Given the description of an element on the screen output the (x, y) to click on. 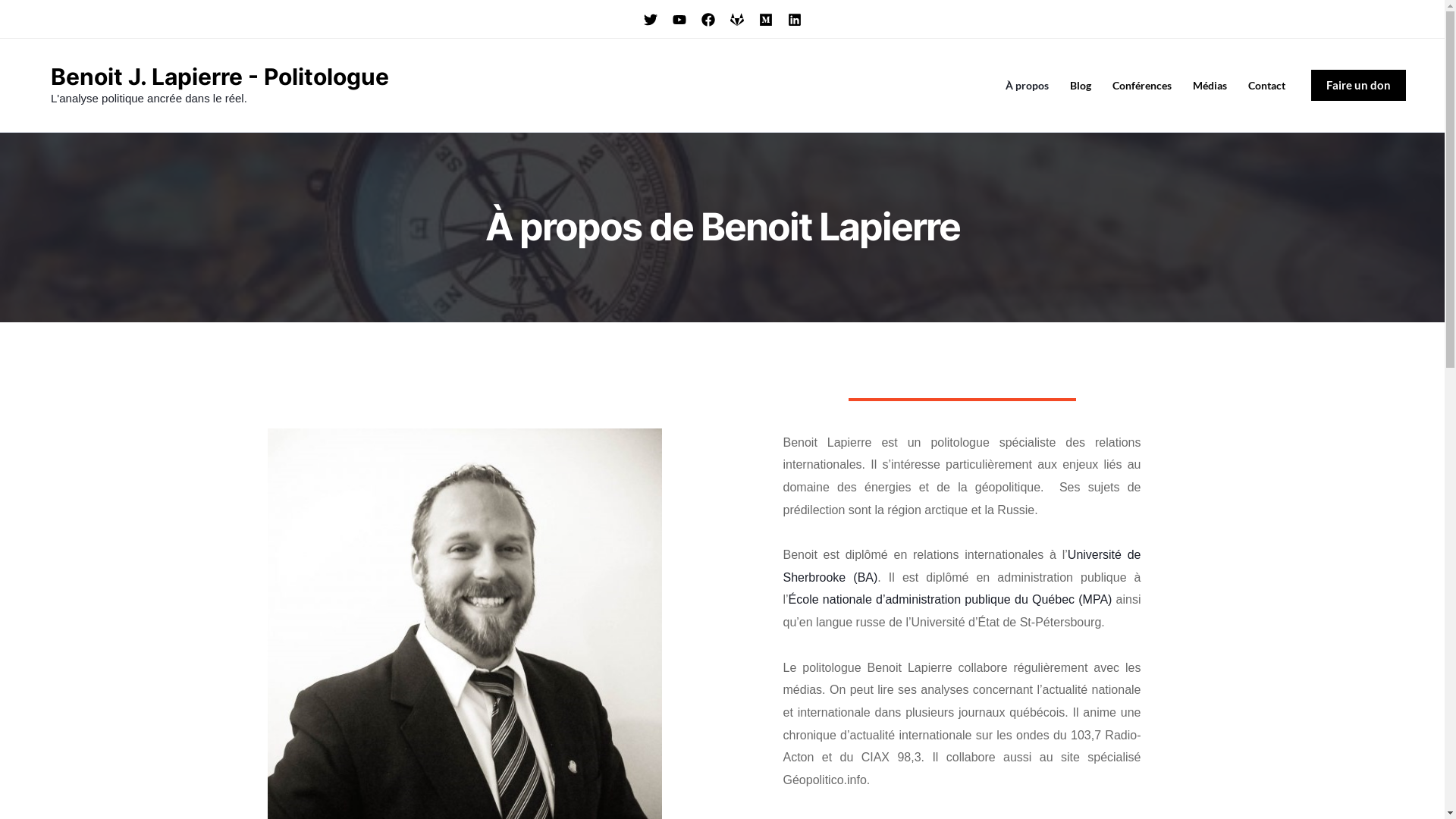
Blog Element type: text (1080, 85)
Faire un don Element type: text (1358, 84)
Benoit J. Lapierre - Politologue Element type: text (219, 76)
Contact Element type: text (1266, 85)
